Given the description of an element on the screen output the (x, y) to click on. 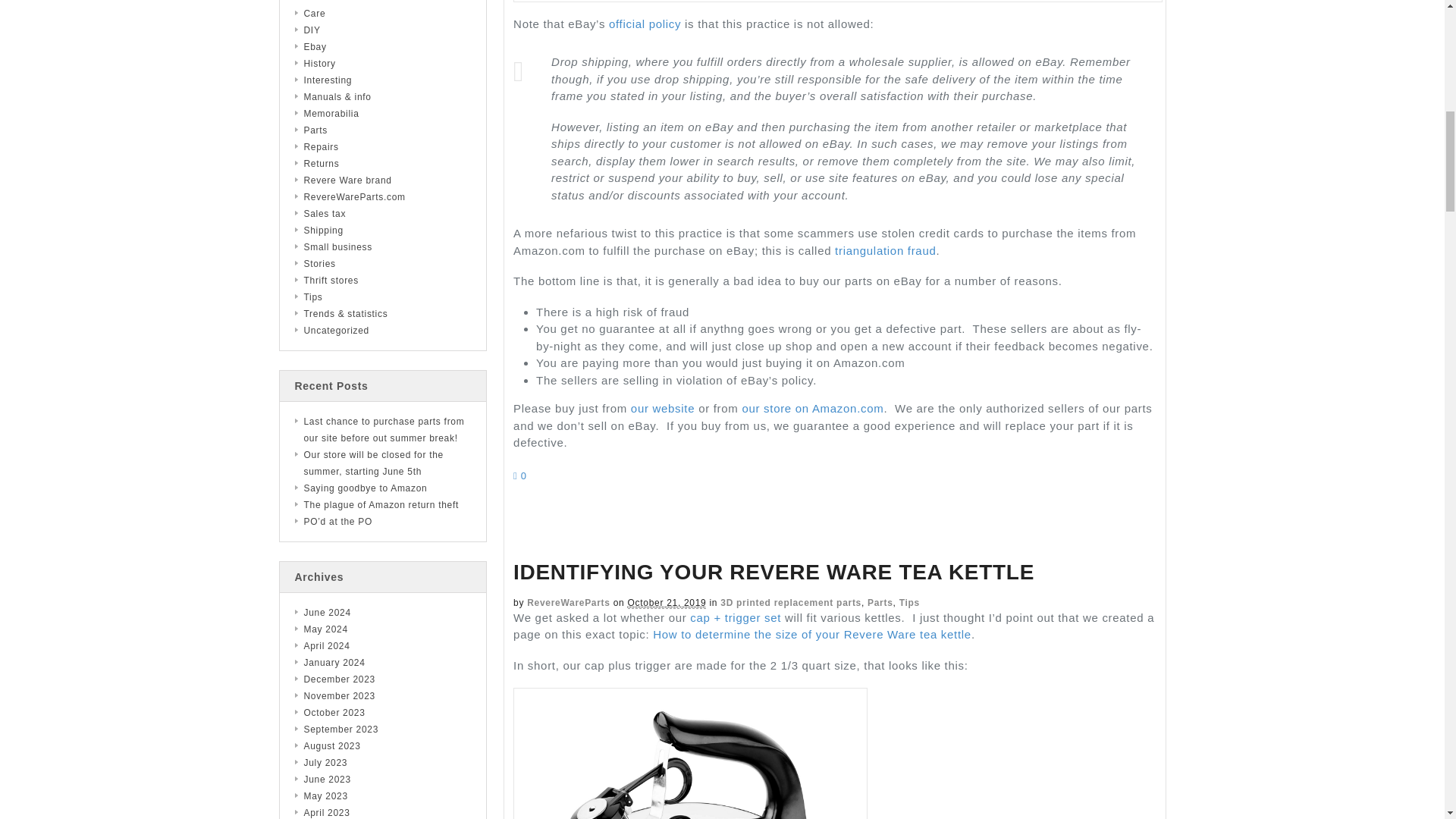
View all items in 3D printed replacement parts (790, 602)
2019-10-21T10:02:28-0700 (666, 603)
Posts by RevereWareParts (568, 602)
View all items in Parts (880, 602)
Identifying your Revere Ware tea kettle (773, 571)
View all items in Tips (909, 602)
